Given the description of an element on the screen output the (x, y) to click on. 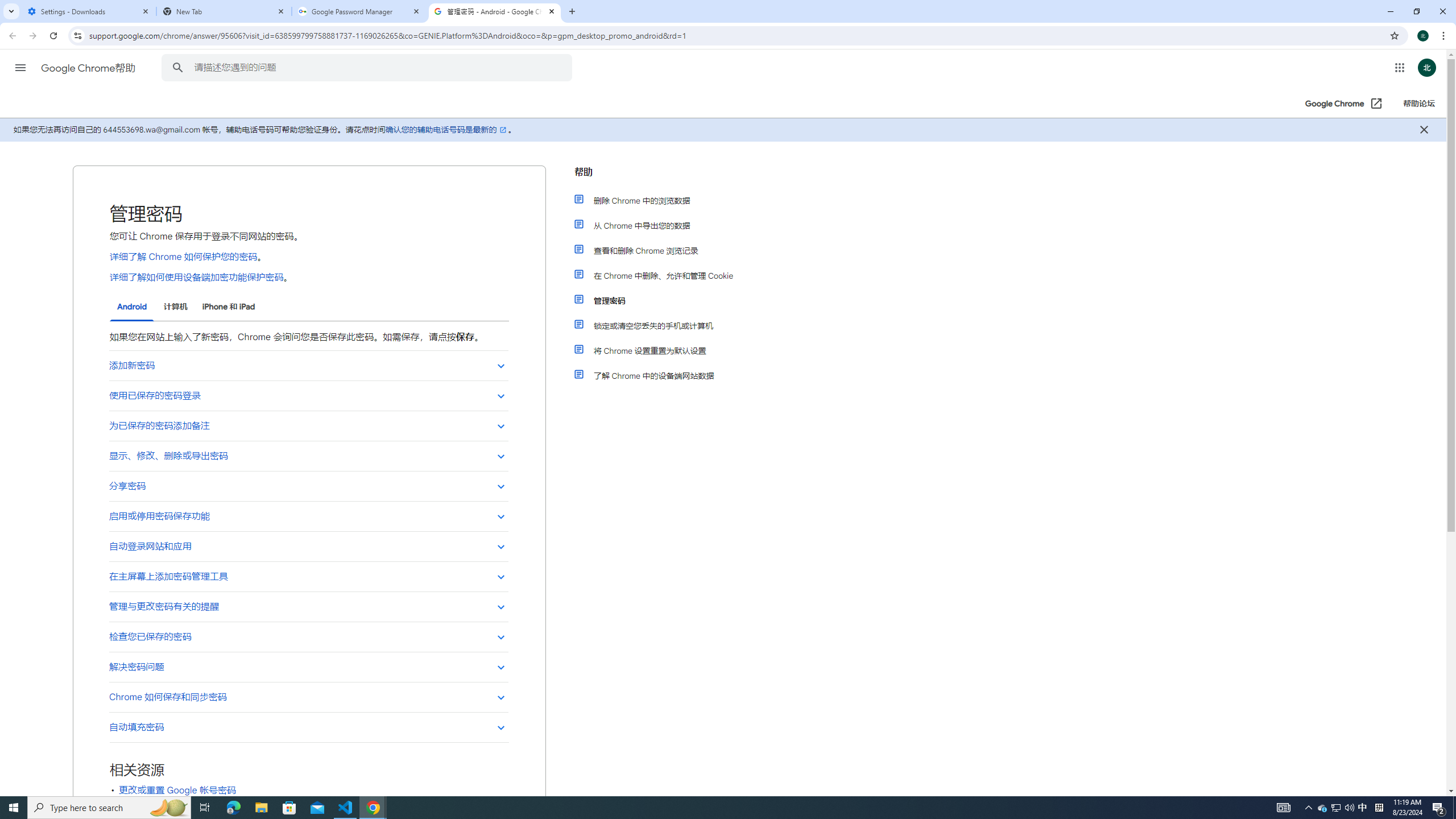
Android (131, 307)
